Given the description of an element on the screen output the (x, y) to click on. 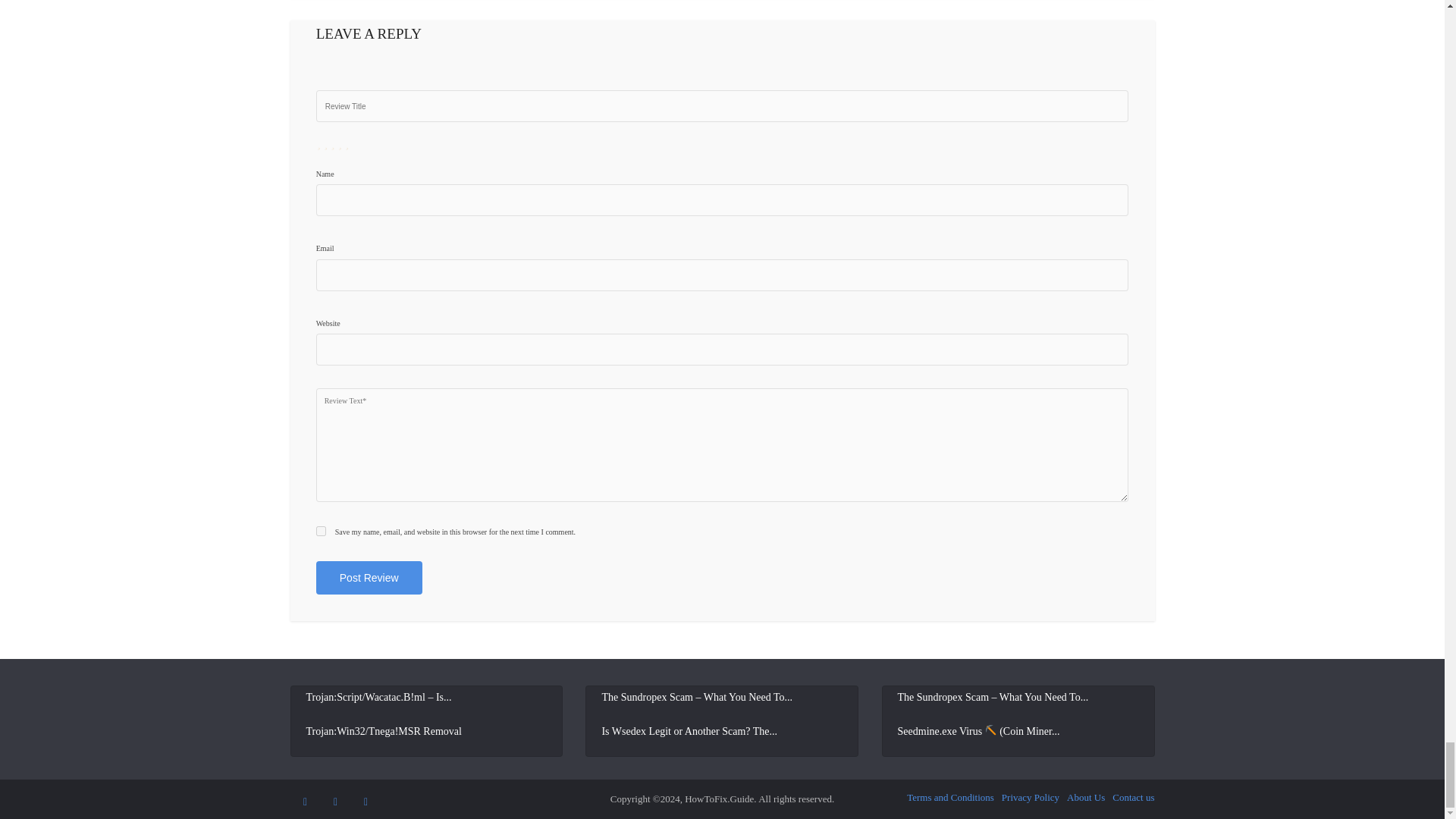
Post Review (368, 577)
yes (320, 531)
